Given the description of an element on the screen output the (x, y) to click on. 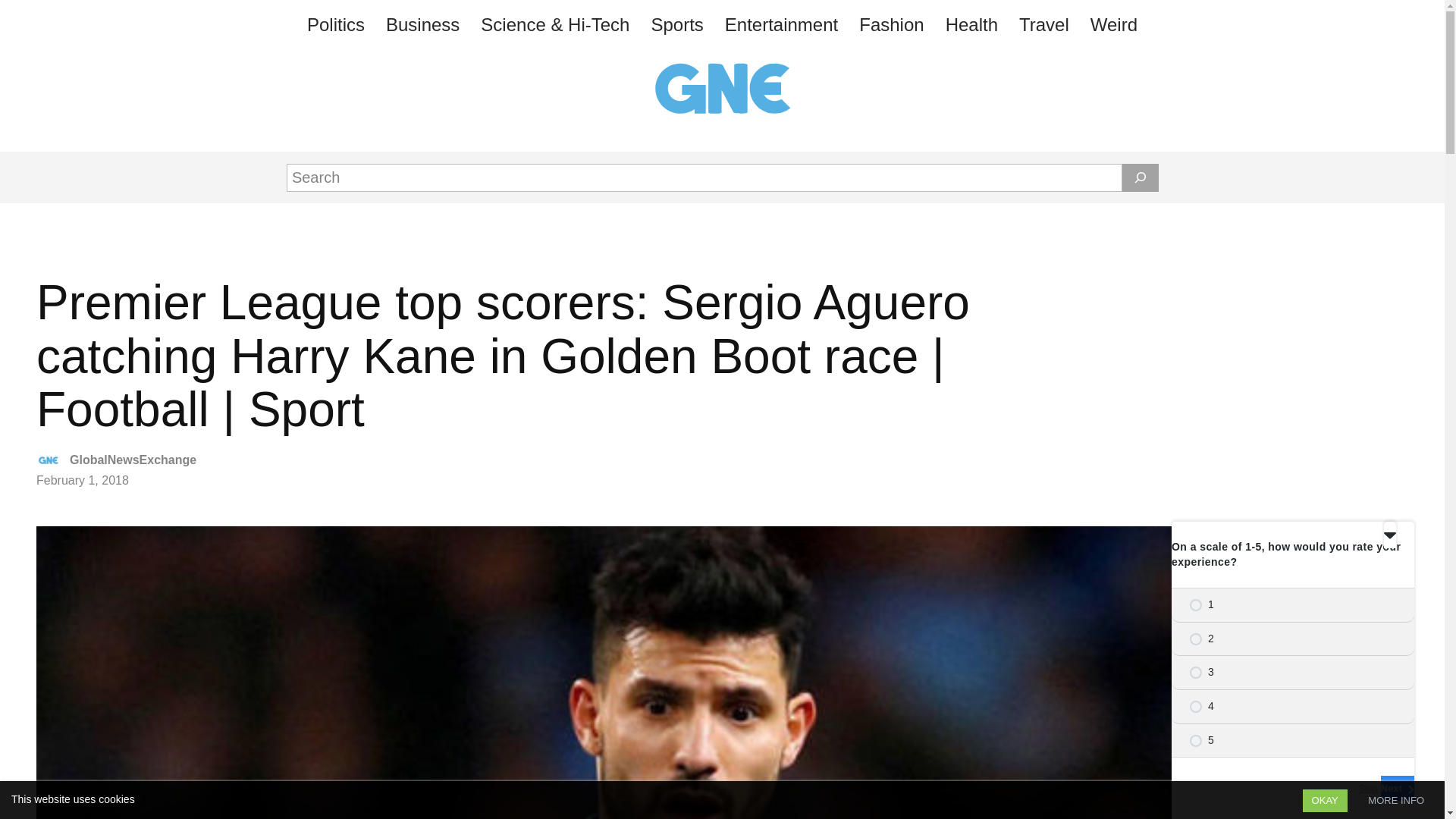
Weird (1113, 24)
Health (971, 24)
Politics (336, 24)
Fashion (891, 24)
Business (422, 24)
Sports (677, 24)
Travel (1044, 24)
Entertainment (781, 24)
